Given the description of an element on the screen output the (x, y) to click on. 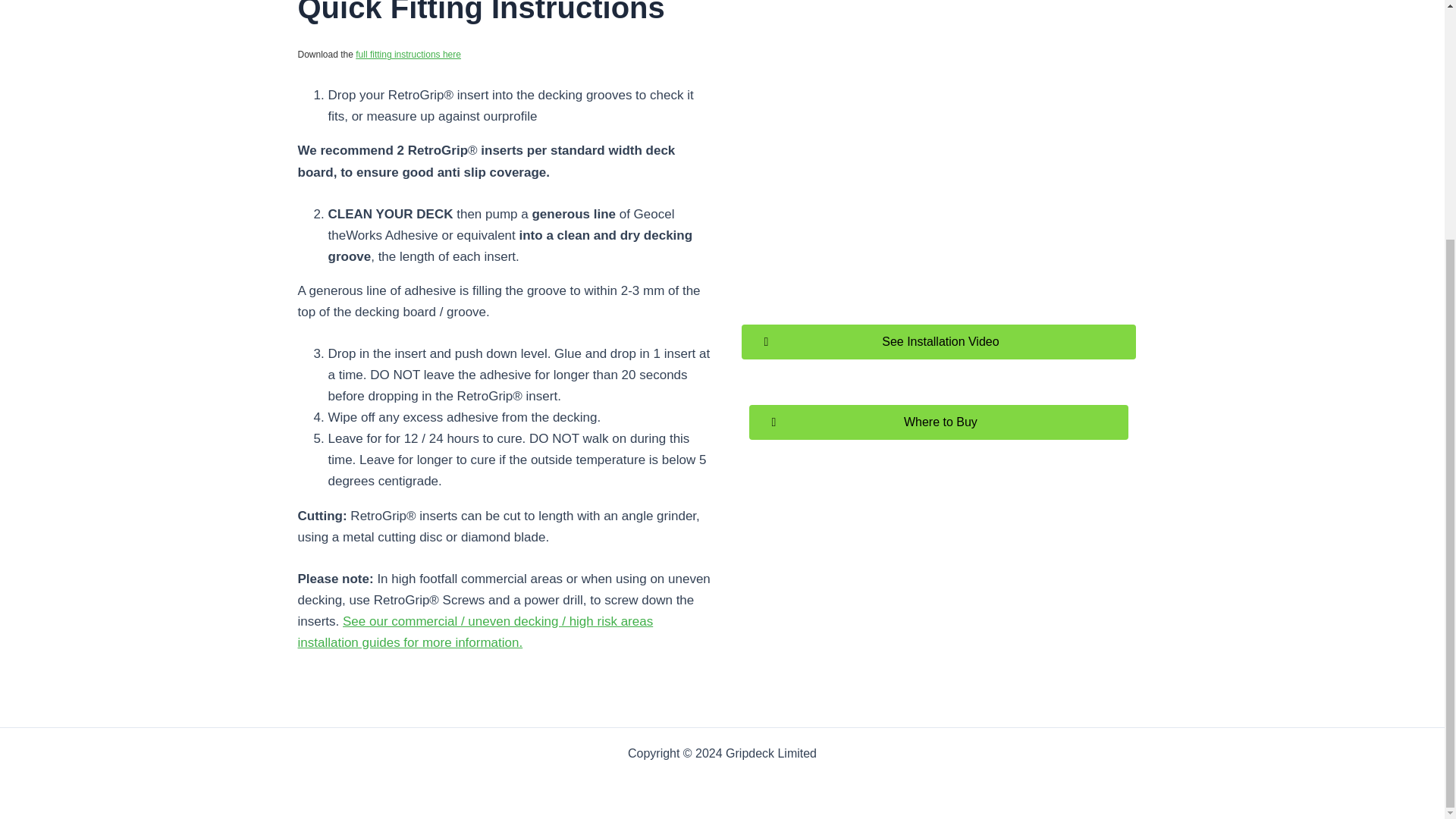
Domestic Installation 3 (938, 170)
